Given the description of an element on the screen output the (x, y) to click on. 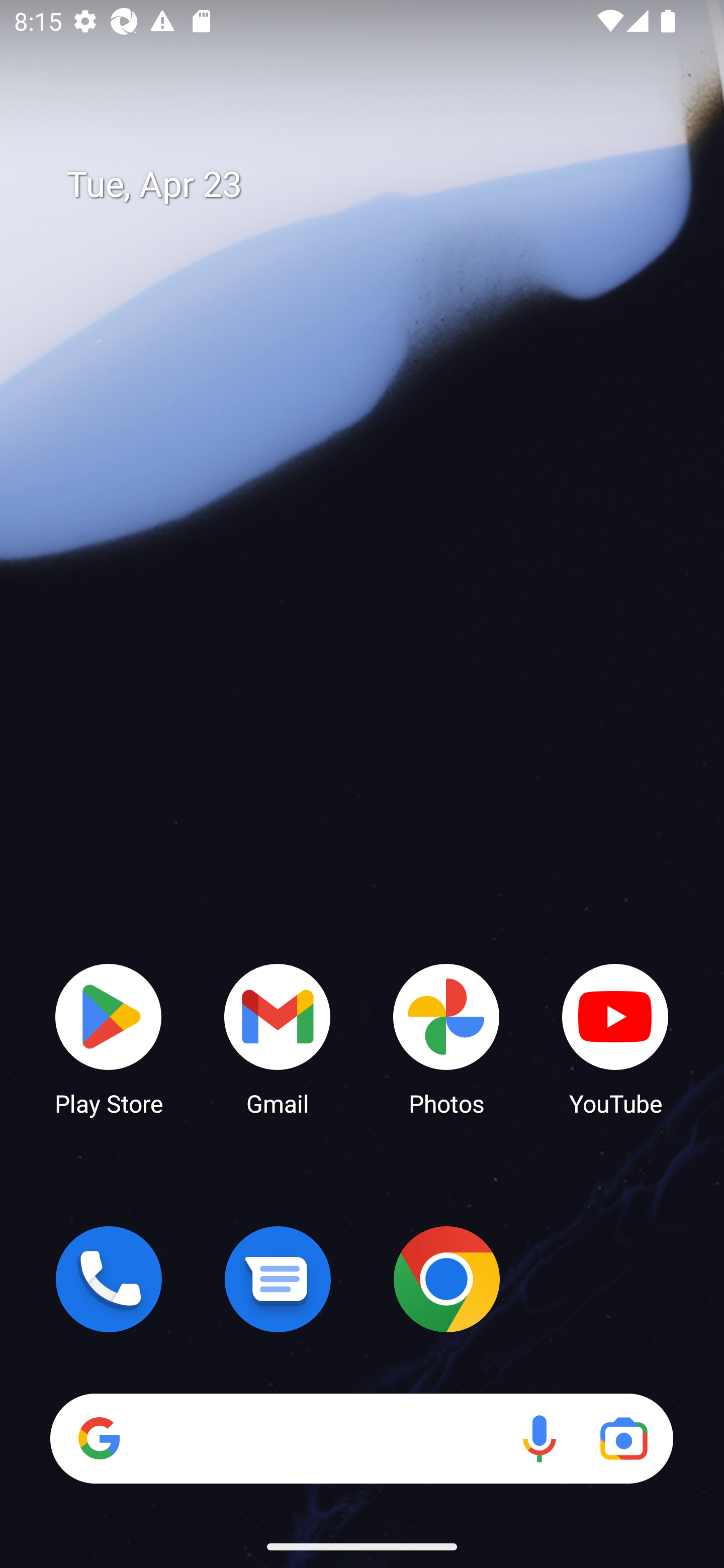
Tue, Apr 23 (375, 184)
Play Store (108, 1038)
Gmail (277, 1038)
Photos (445, 1038)
YouTube (615, 1038)
Phone (108, 1279)
Messages (277, 1279)
Chrome (446, 1279)
Search Voice search Google Lens (361, 1438)
Voice search (539, 1438)
Google Lens (623, 1438)
